Given the description of an element on the screen output the (x, y) to click on. 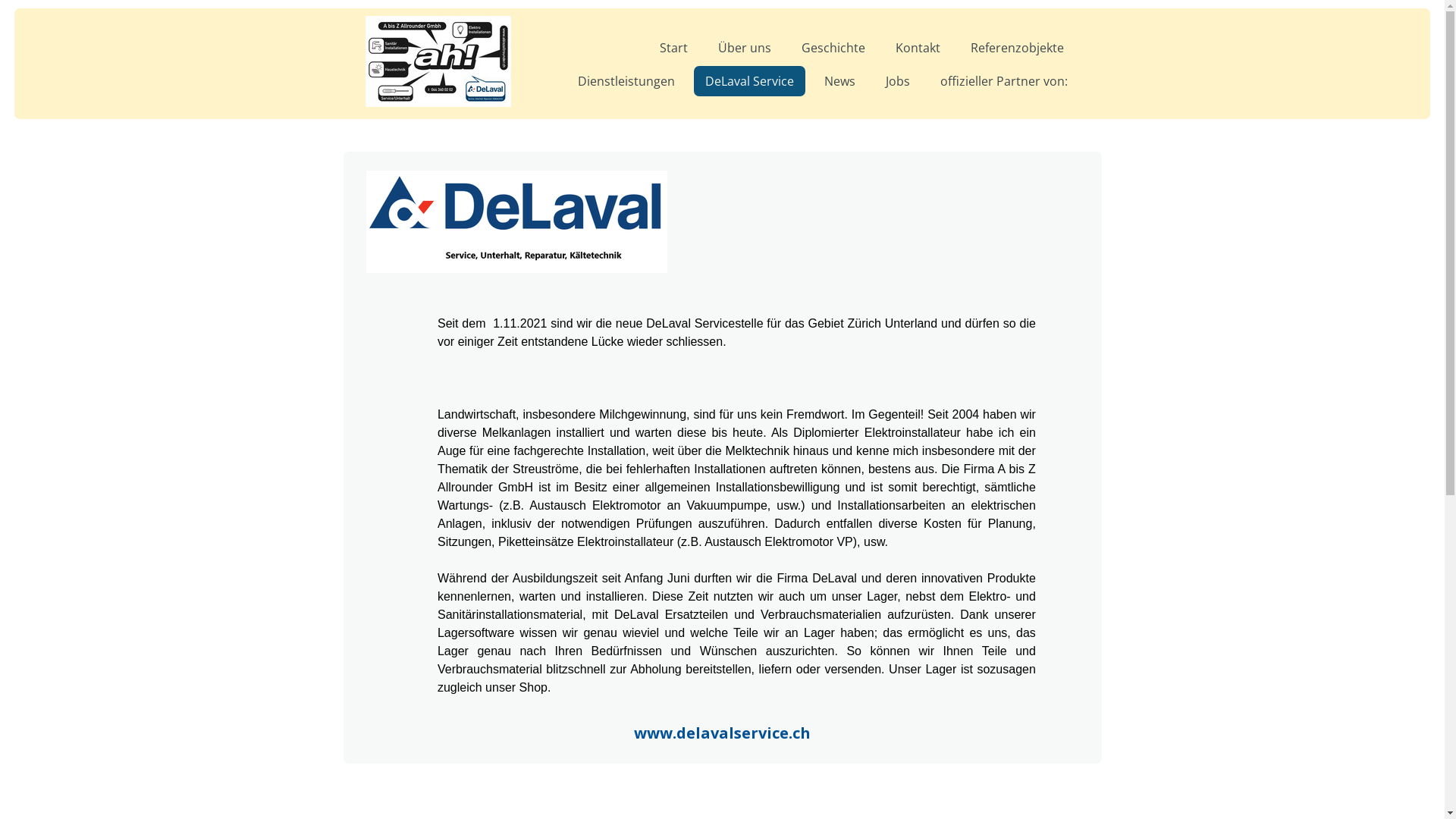
Dienstleistungen Element type: text (625, 80)
Kontakt Element type: text (917, 47)
News Element type: text (839, 80)
Jobs Element type: text (896, 80)
Referenzobjekte Element type: text (1016, 47)
DeLaval Service Element type: text (748, 80)
Start Element type: text (672, 47)
Geschichte Element type: text (833, 47)
offizieller Partner von: Element type: text (1003, 80)
www.delavalservice.ch Element type: text (721, 733)
